Given the description of an element on the screen output the (x, y) to click on. 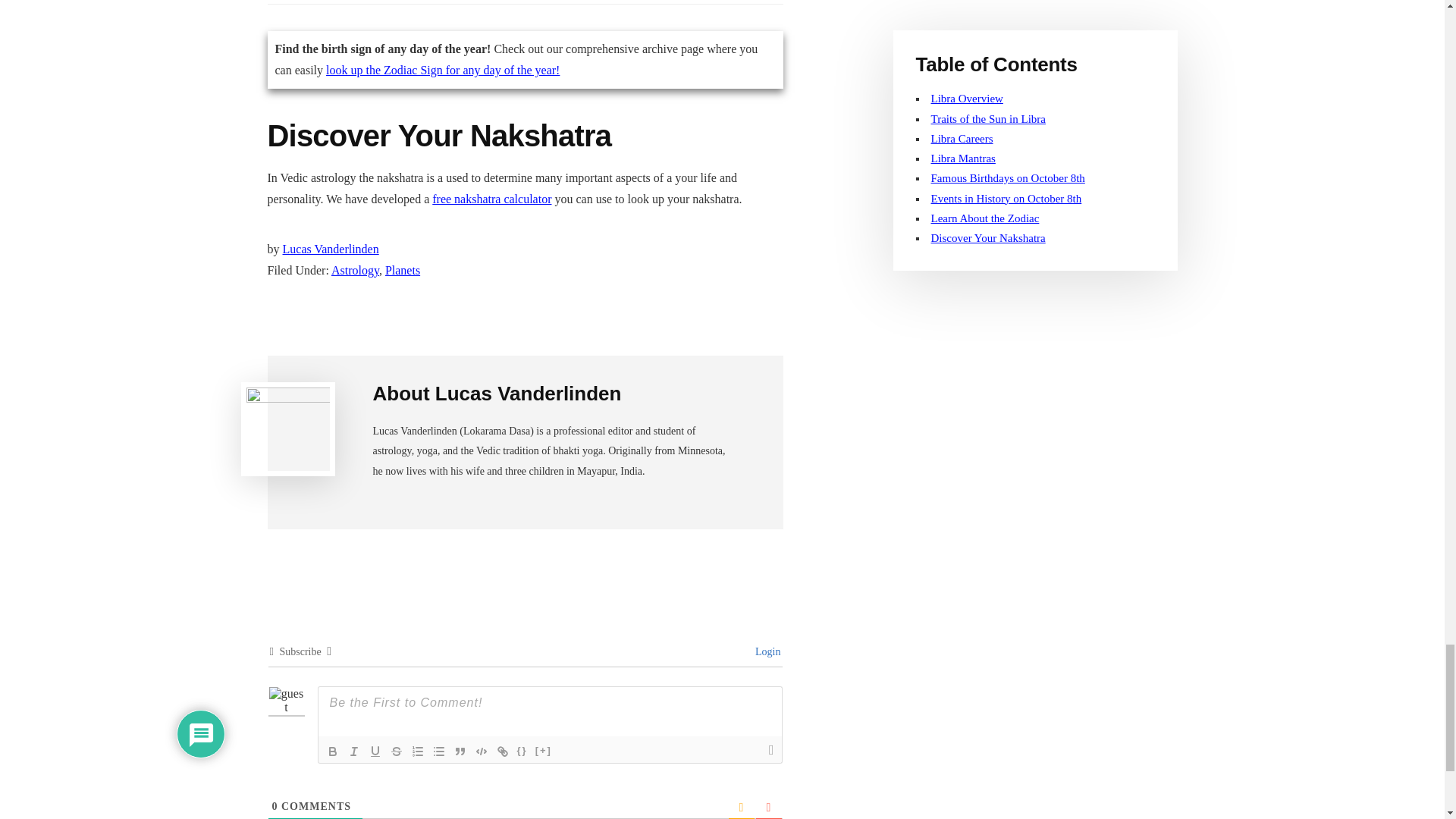
Blockquote (459, 751)
Underline (374, 751)
Strike (395, 751)
Italic (353, 751)
Source Code (521, 751)
Link (502, 751)
Spoiler (543, 751)
Code Block (481, 751)
Ordered List (417, 751)
Unordered List (438, 751)
Bold (331, 751)
